Given the description of an element on the screen output the (x, y) to click on. 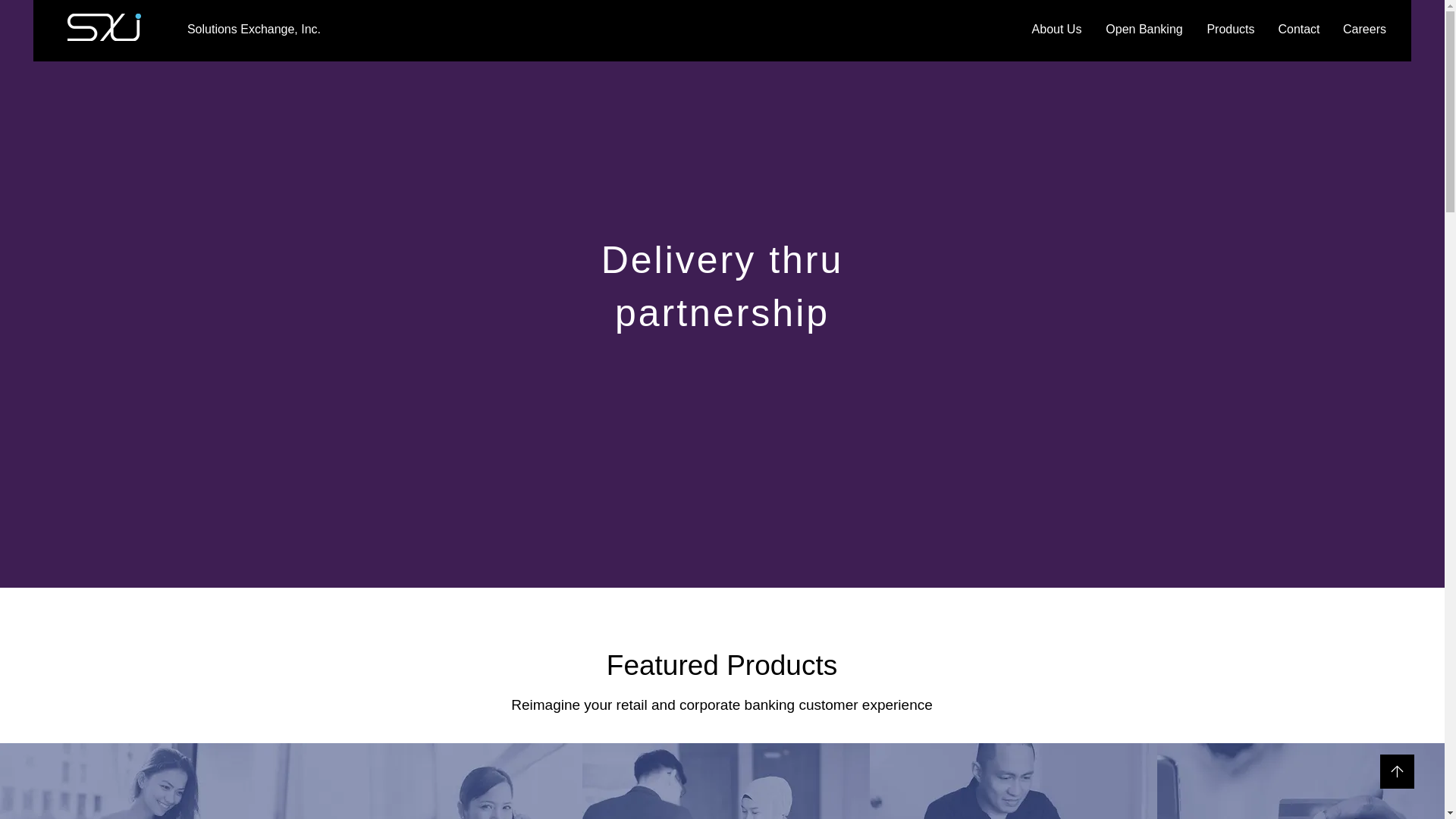
Products (1230, 29)
Contact (1299, 29)
Careers (1364, 29)
Open Banking (1144, 29)
About Us (1056, 29)
